Given the description of an element on the screen output the (x, y) to click on. 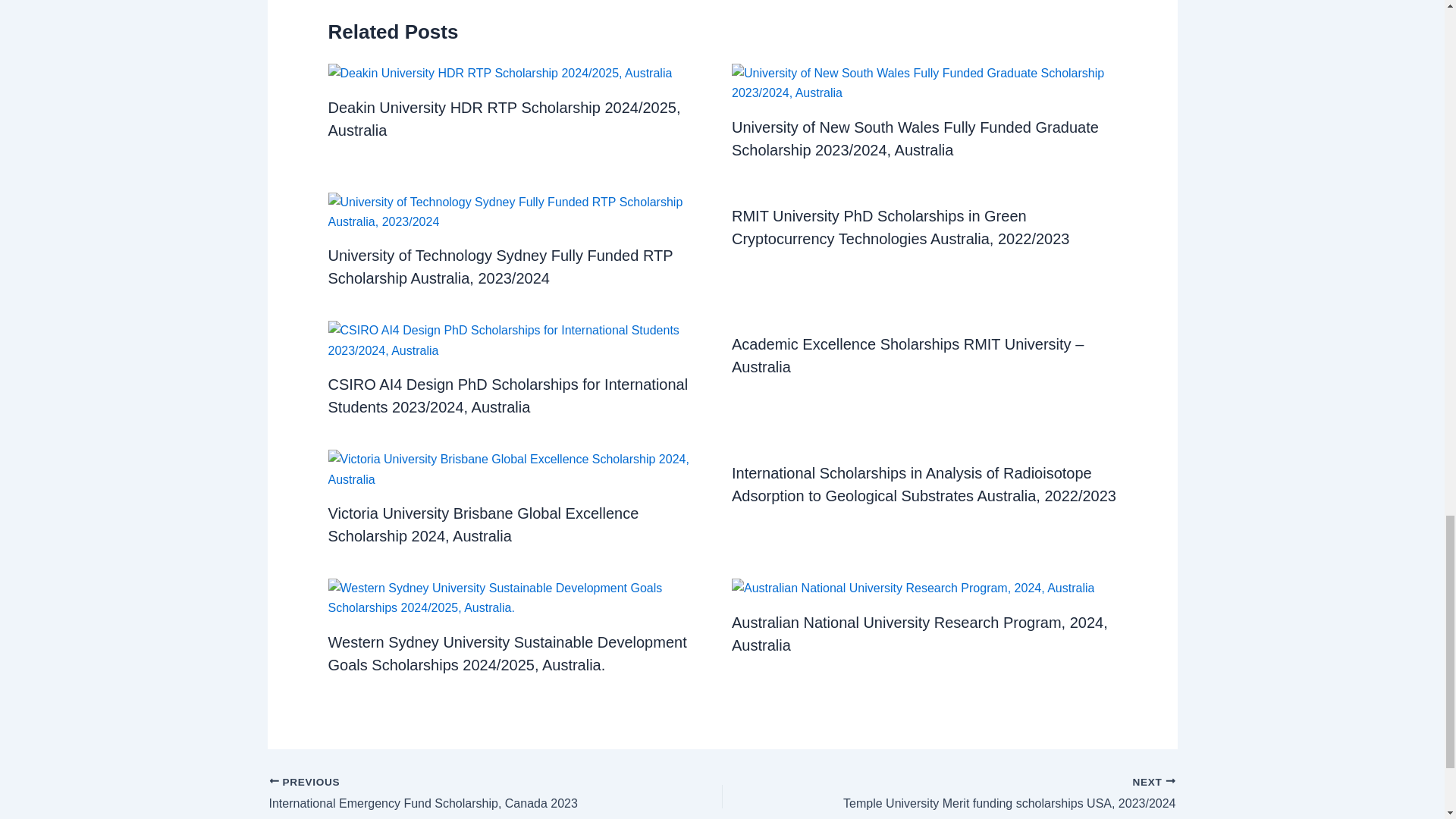
International Emergency Fund Scholarship, Canada 2023 (449, 794)
